Given the description of an element on the screen output the (x, y) to click on. 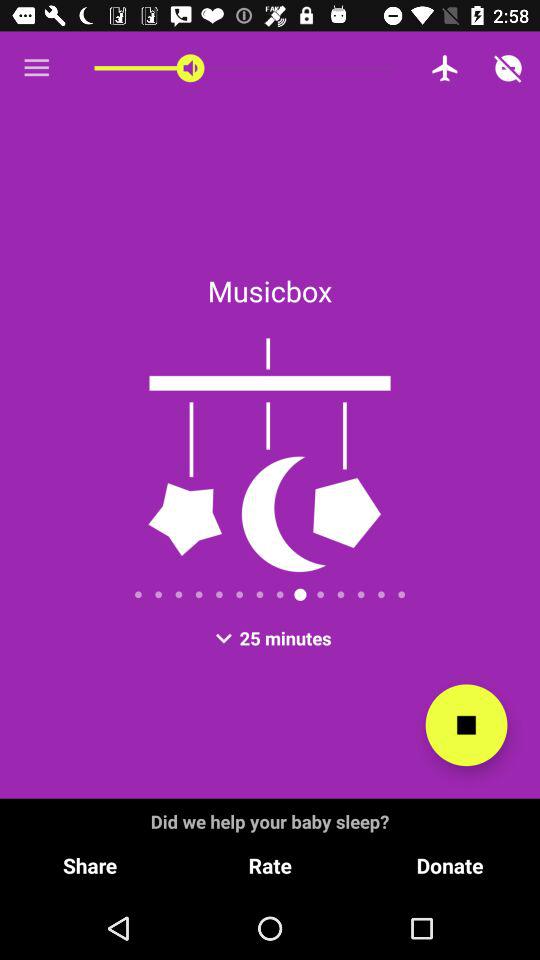
record option (466, 725)
